Given the description of an element on the screen output the (x, y) to click on. 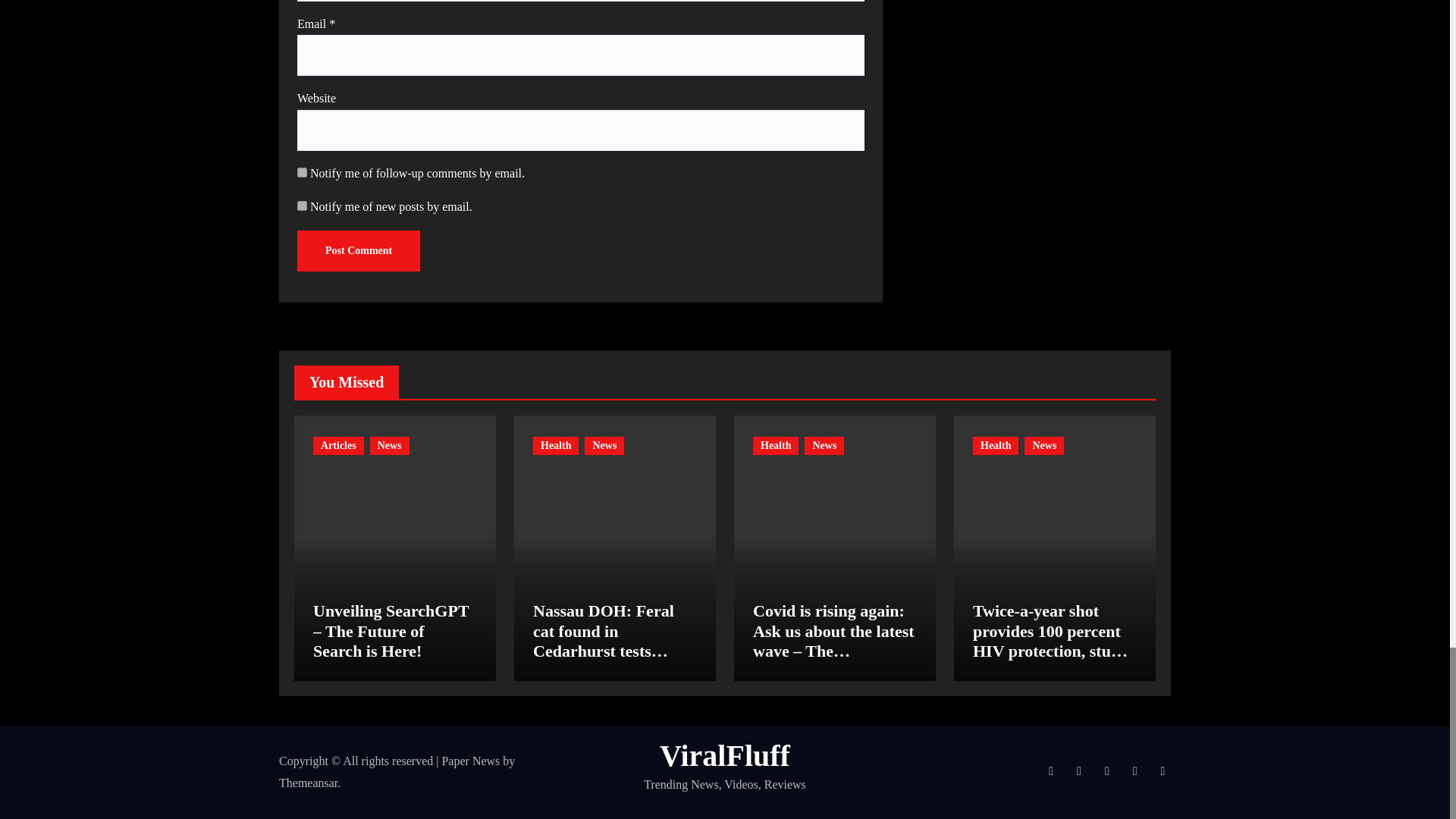
subscribe (302, 172)
subscribe (302, 205)
Post Comment (358, 250)
